Given the description of an element on the screen output the (x, y) to click on. 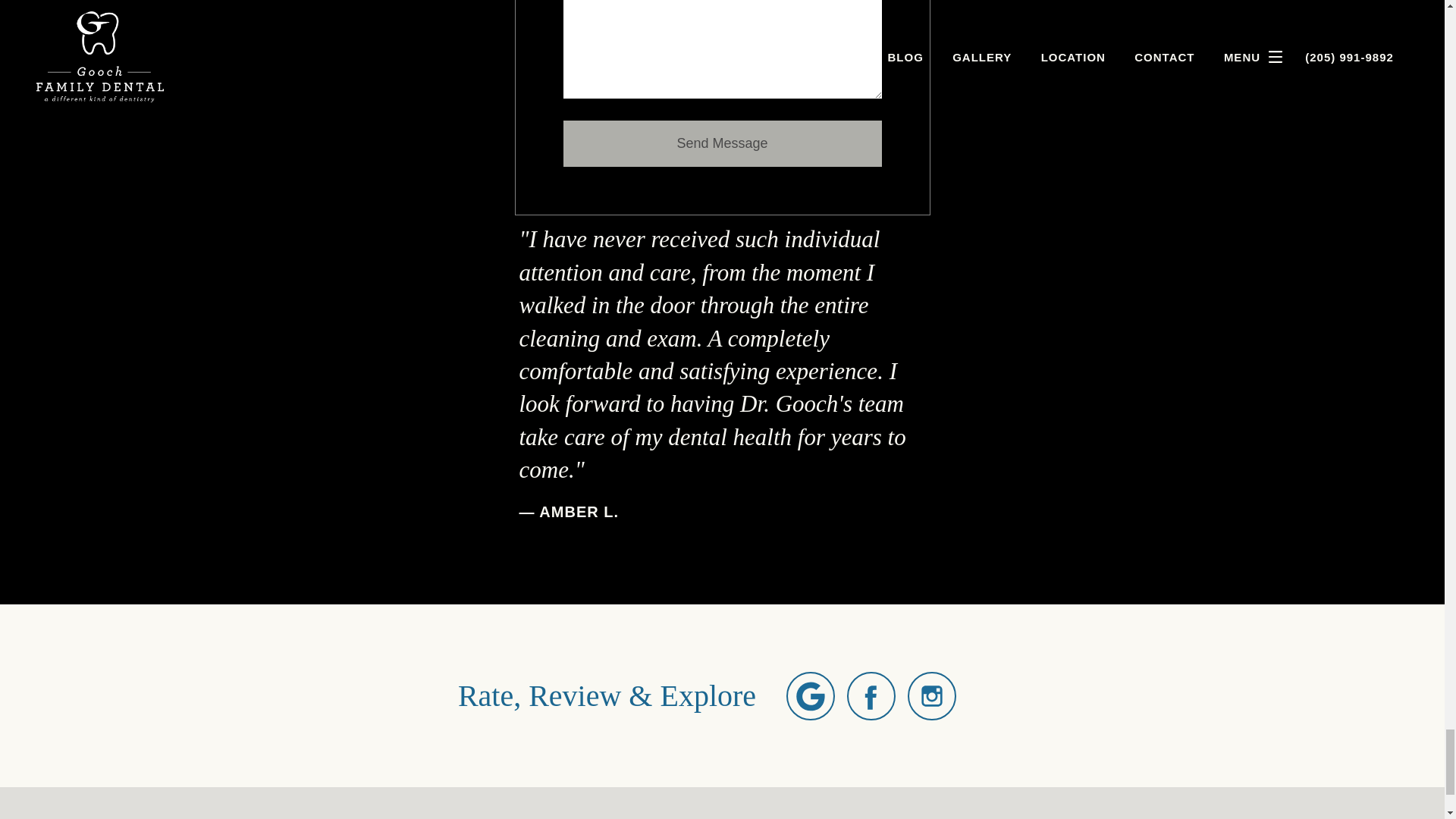
Google (810, 695)
Facebook (871, 695)
Instagram (931, 695)
